Given the description of an element on the screen output the (x, y) to click on. 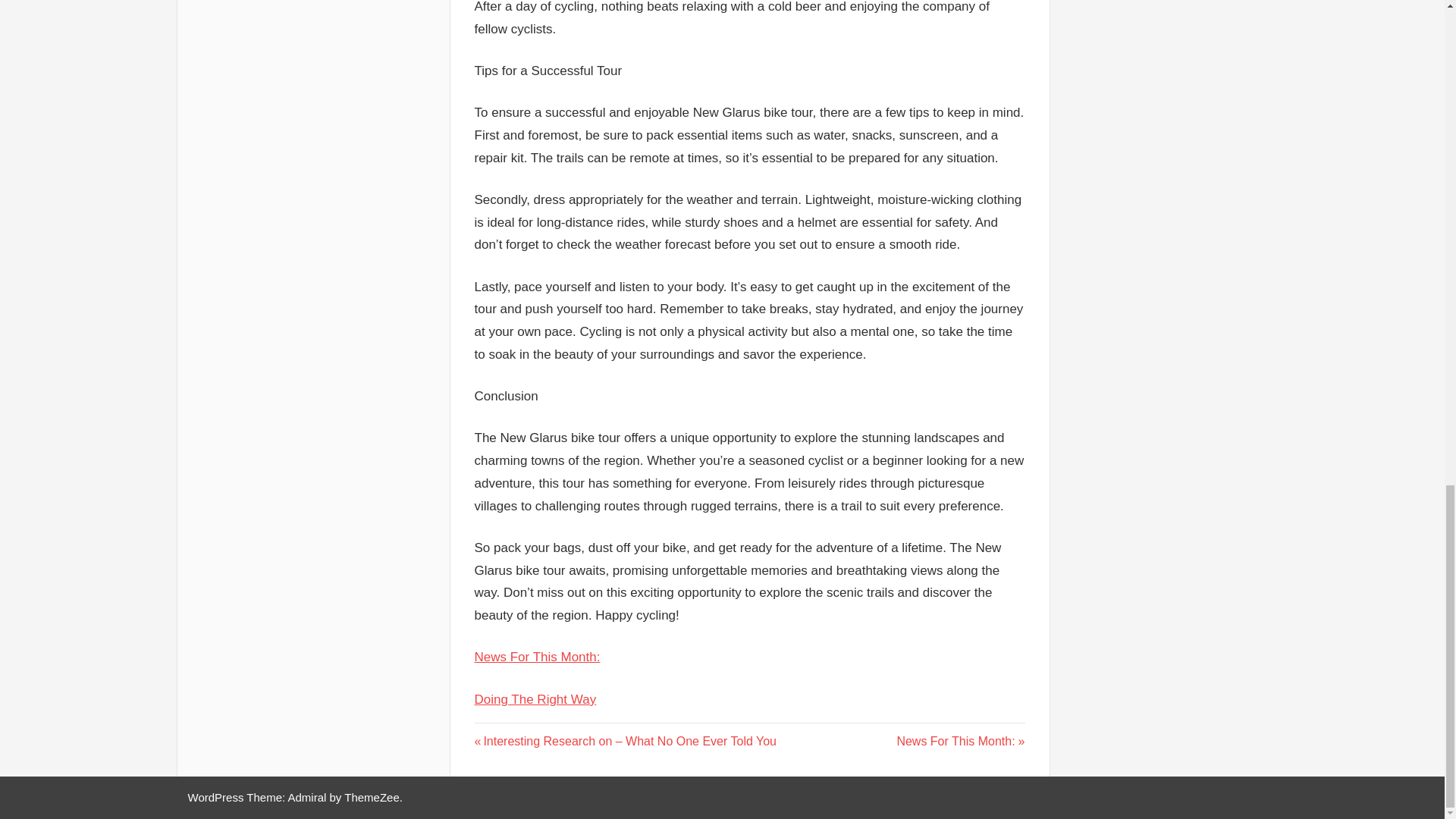
Doing The Right Way (535, 699)
News For This Month: (536, 657)
